Given the description of an element on the screen output the (x, y) to click on. 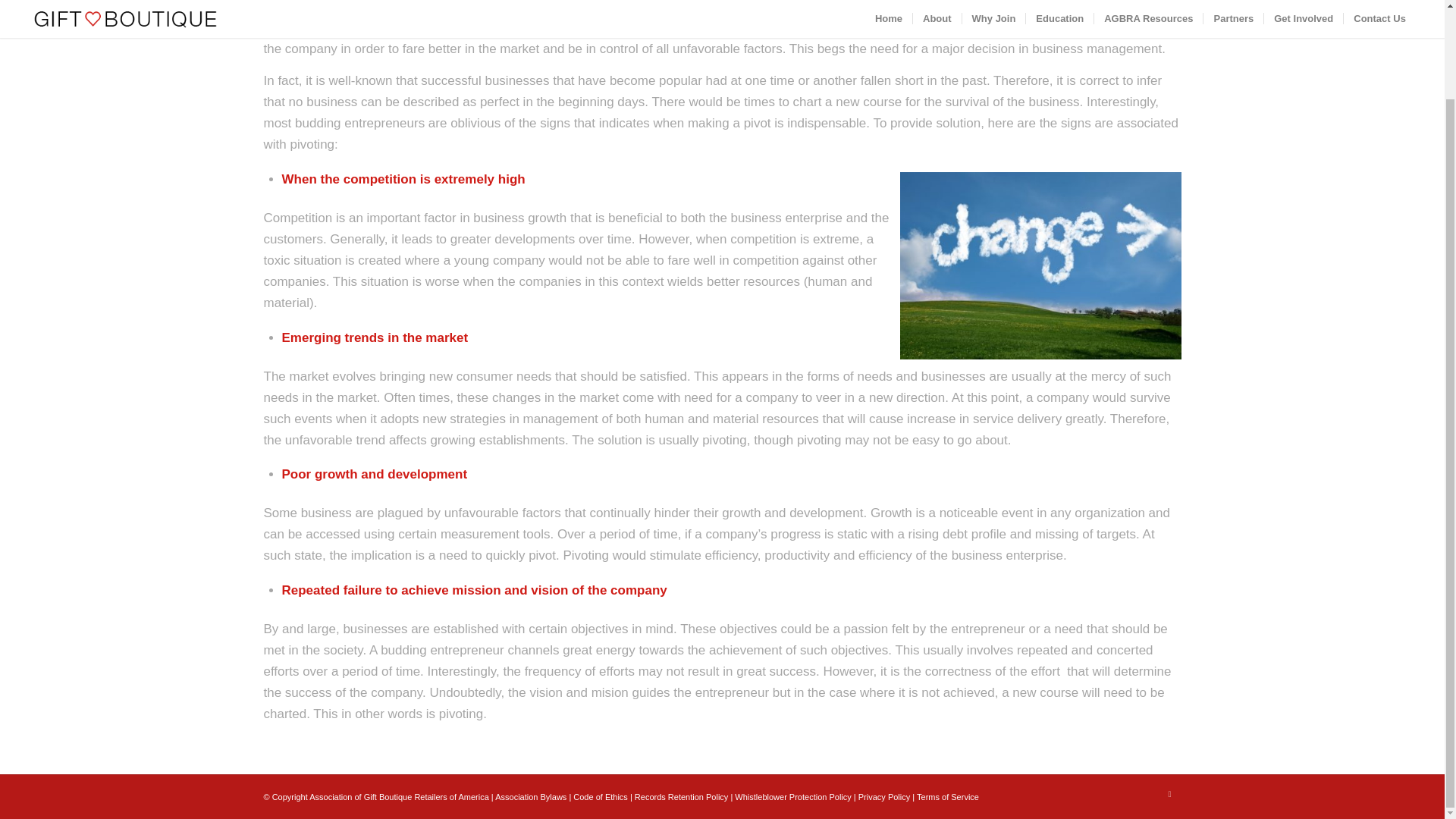
Records Retention Policy (681, 796)
Association Bylaws (530, 796)
Code of Ethics (600, 796)
Whistleblower Protection Policy (792, 796)
Facebook (1169, 793)
Privacy Policy (884, 796)
Terms of Service (947, 796)
